Given the description of an element on the screen output the (x, y) to click on. 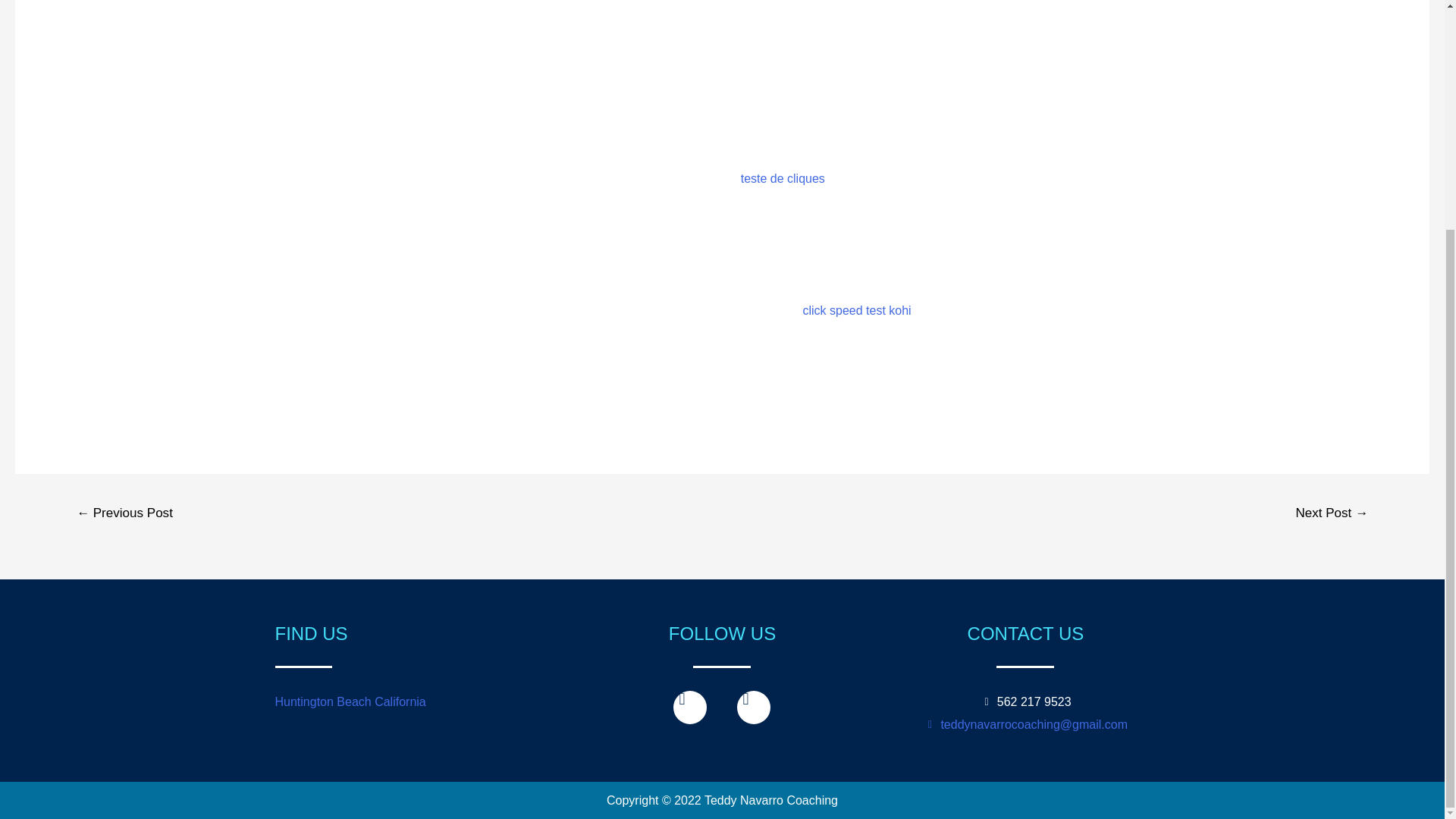
Huntington Beach California (350, 701)
click speed test kohi (856, 309)
teste de cliques (783, 178)
